Given the description of an element on the screen output the (x, y) to click on. 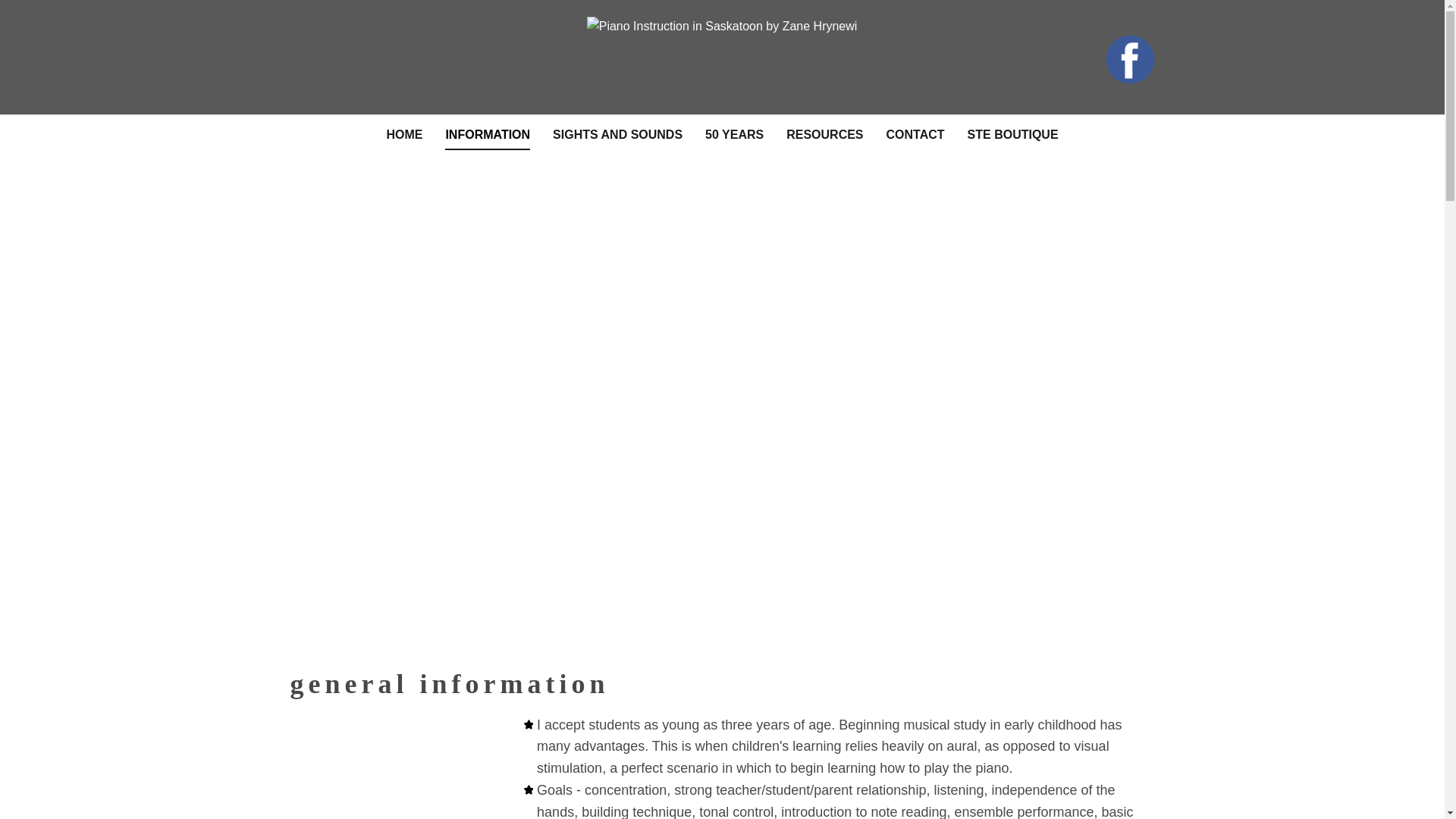
RESOURCES (824, 135)
CONTACT (915, 135)
50 YEARS (733, 135)
HOME (403, 135)
INFORMATION (487, 135)
facebook (1129, 59)
STE BOUTIQUE (1013, 135)
SIGHTS AND SOUNDS (617, 135)
